Given the description of an element on the screen output the (x, y) to click on. 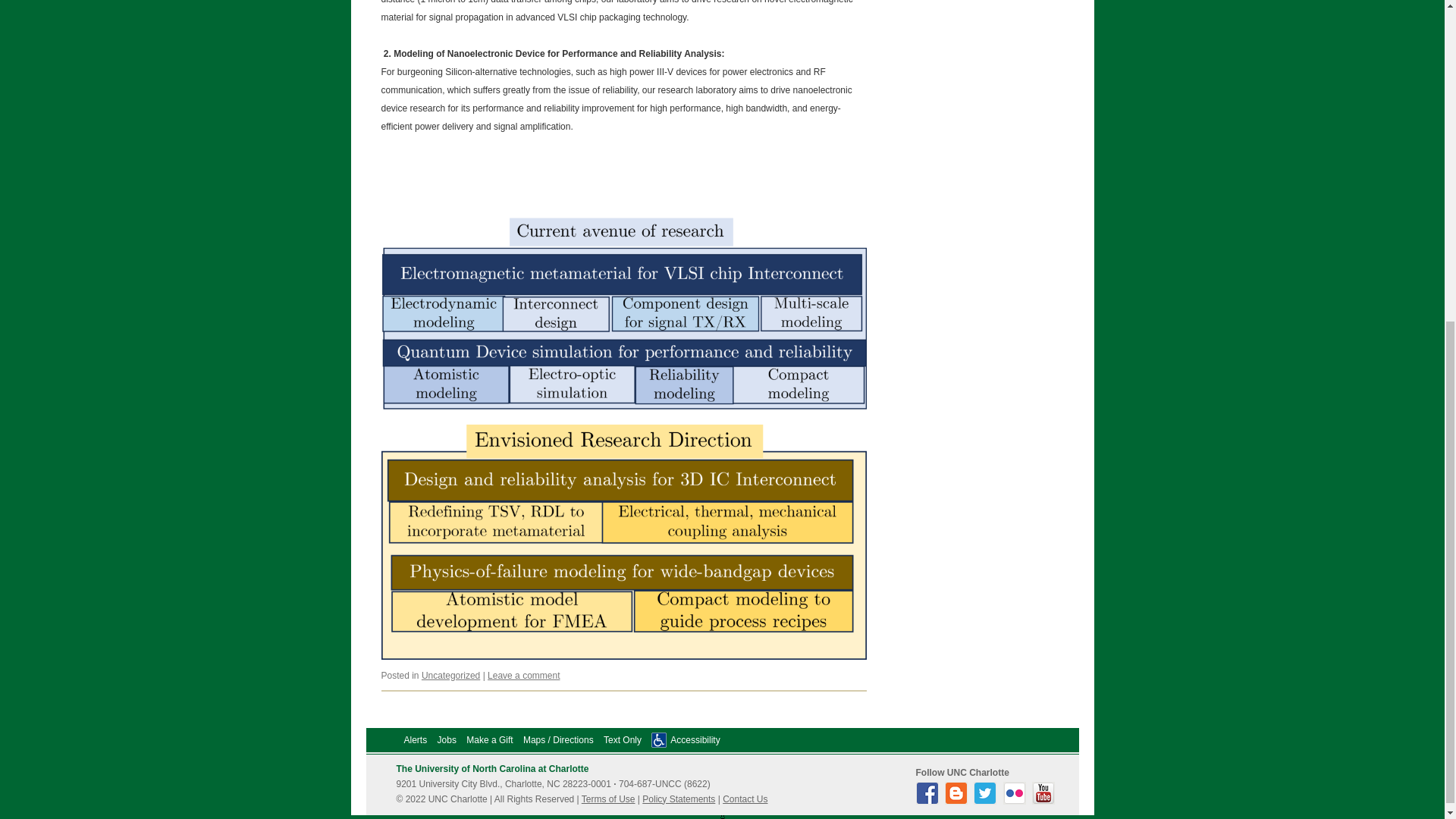
Blogger (957, 800)
Twitter (987, 800)
Contact Us (744, 798)
Directions to UNC Charlotte (558, 739)
Terms of Use (607, 798)
Make a Gift (488, 739)
Jobs at UNC Charlotte (447, 739)
Facebook (928, 800)
Uncategorized (451, 674)
Jobs (447, 739)
Alerts and Advisories at UNC Charlotte (414, 739)
charlotte.edu (492, 768)
Alerts (414, 739)
Accessibility (694, 739)
Accessibility resources at UNC Charlotte (694, 739)
